Given the description of an element on the screen output the (x, y) to click on. 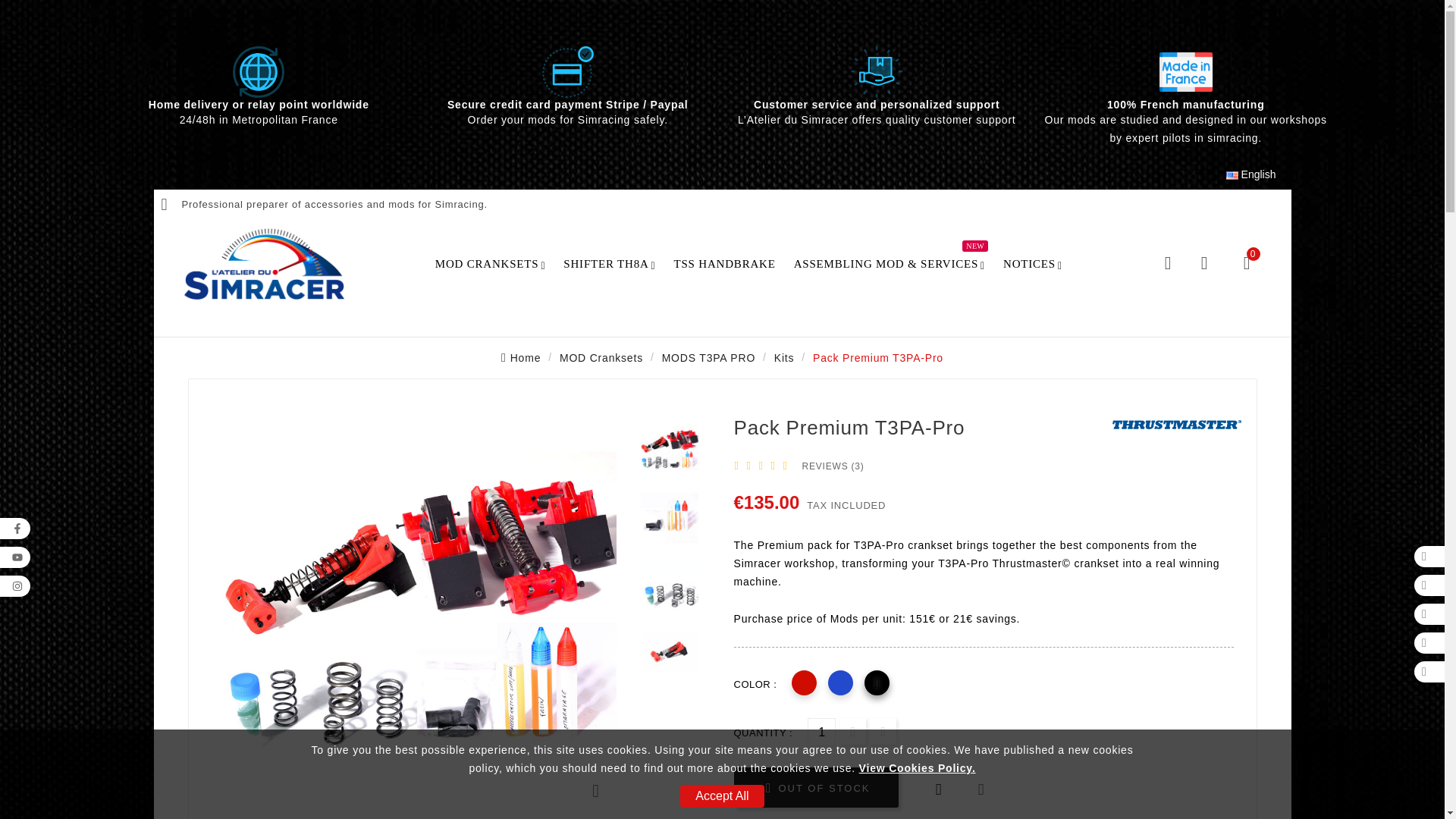
SHIFTER TH8A (608, 262)
Cart (1245, 262)
1 (821, 732)
Pack Premium T3PA-Pro (669, 449)
MOD CRANKSETS (490, 262)
TSS Handbrake (724, 262)
View Cookies Policy. (917, 767)
Accept All (720, 795)
Notices (1032, 262)
